Given the description of an element on the screen output the (x, y) to click on. 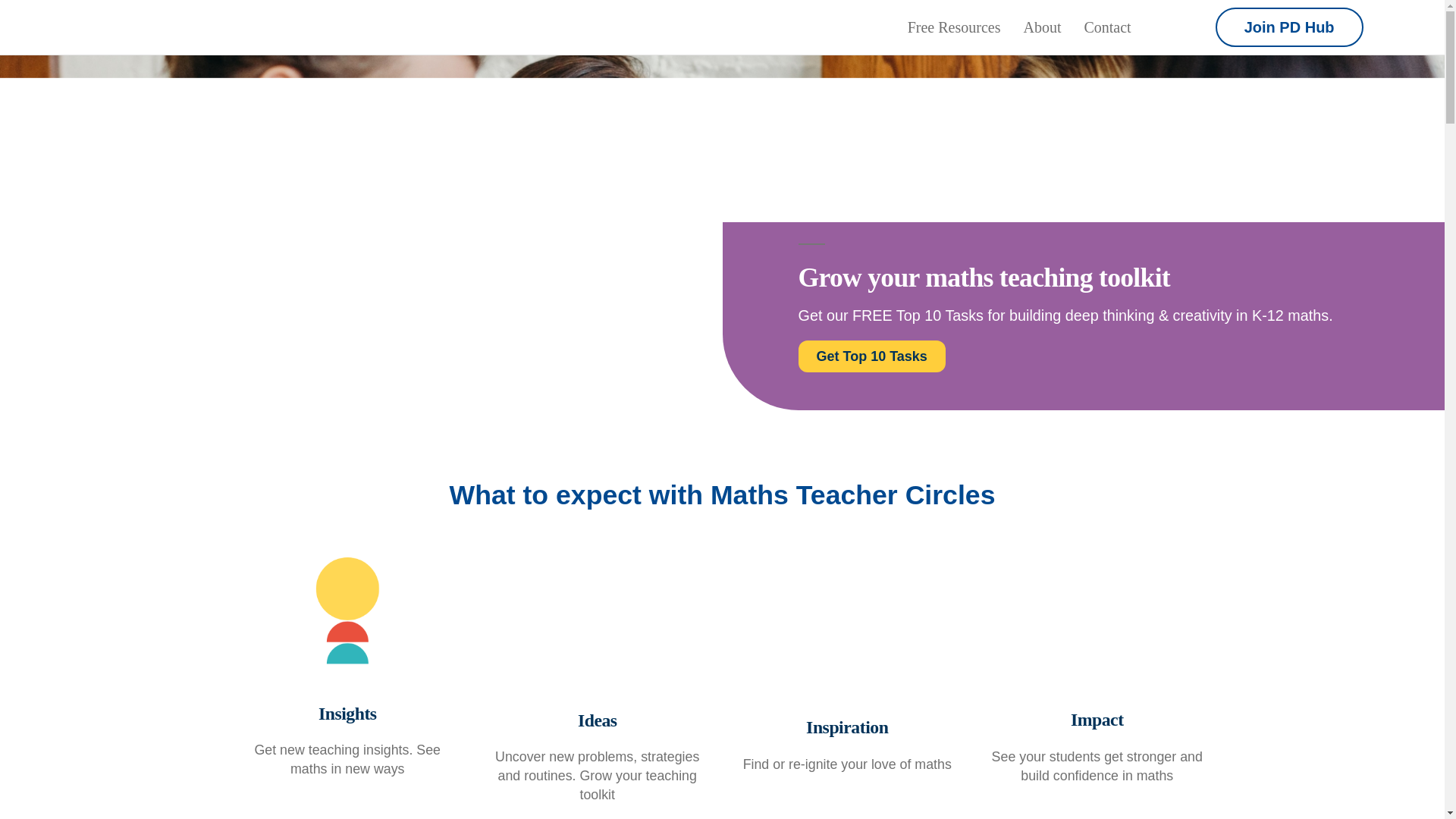
Free Resources (954, 27)
Contact (1107, 27)
Join PD Hub (1288, 26)
About (1042, 27)
Get Top 10 Tasks (870, 356)
